Given the description of an element on the screen output the (x, y) to click on. 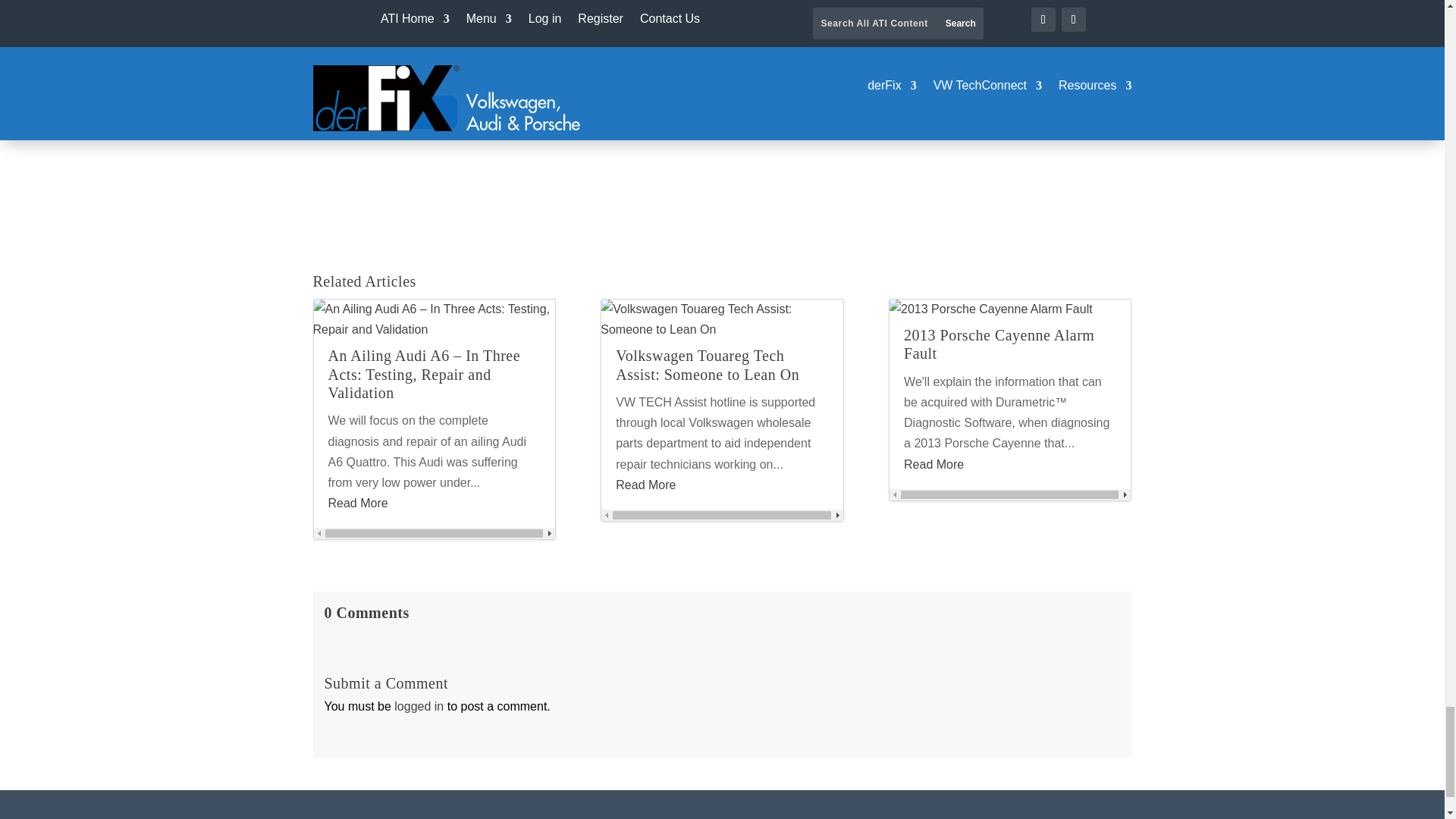
Download PDF (385, 111)
